Given the description of an element on the screen output the (x, y) to click on. 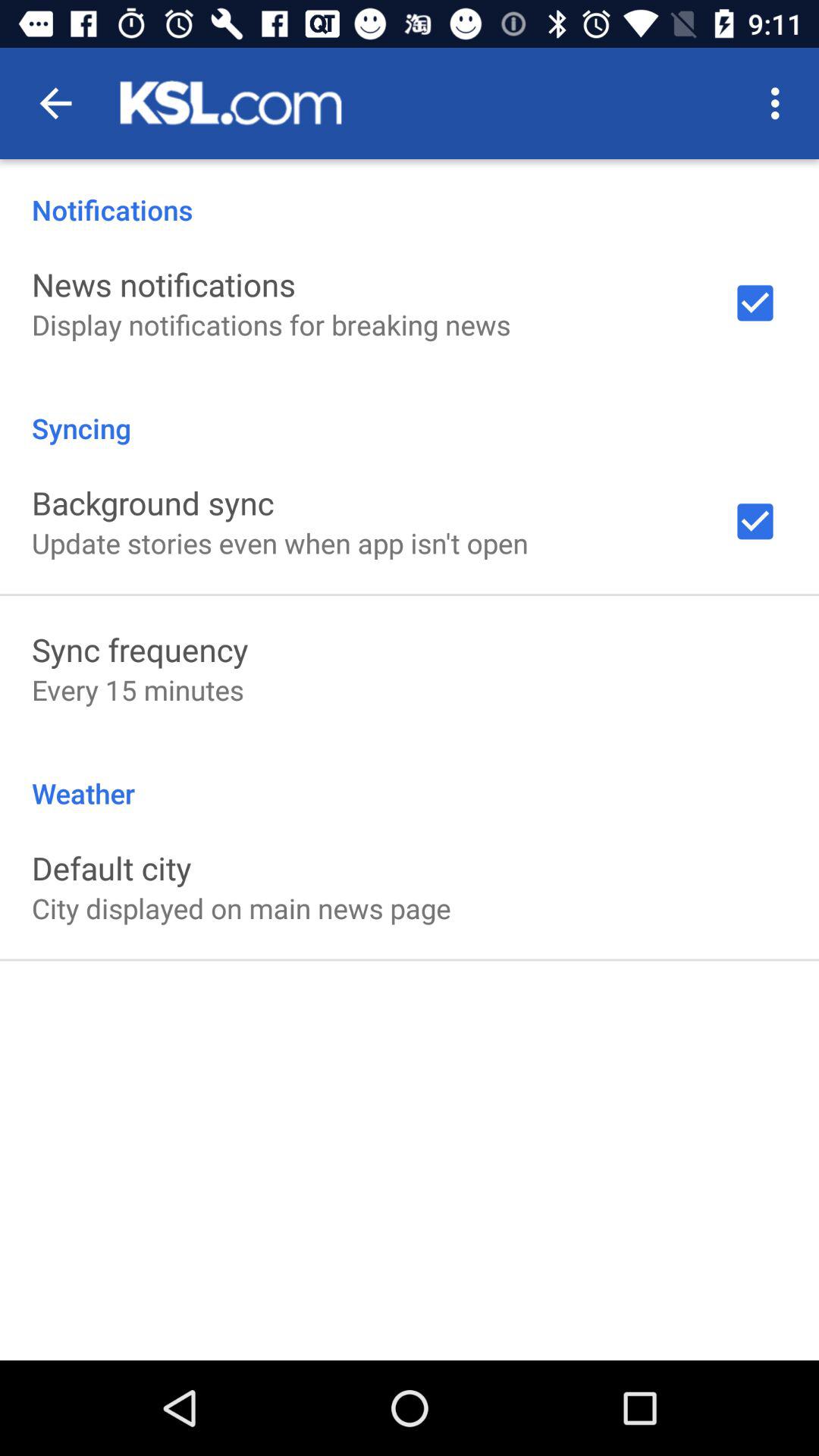
swipe until the background sync item (152, 502)
